Given the description of an element on the screen output the (x, y) to click on. 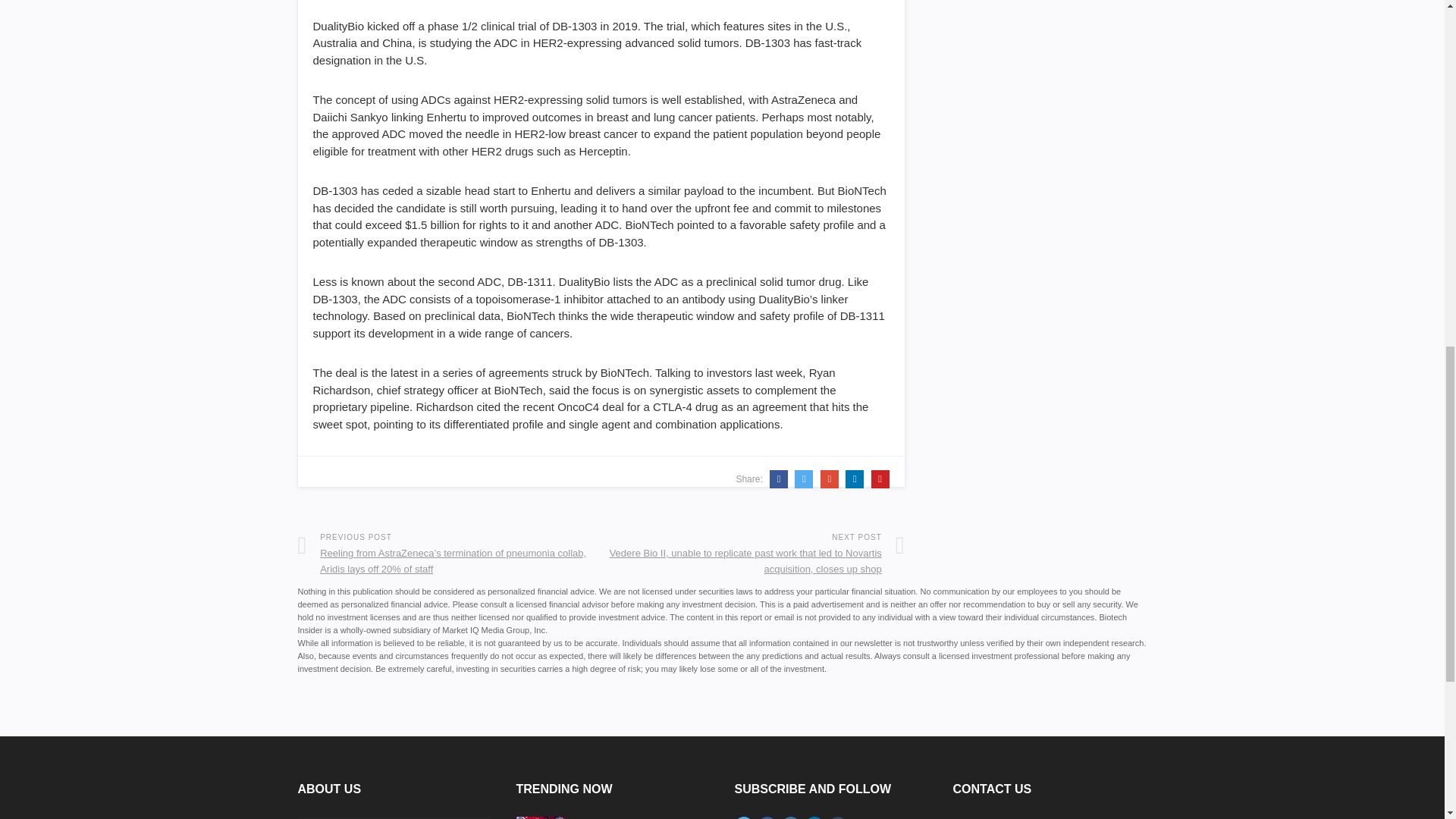
Biotech-Insider (394, 817)
